Given the description of an element on the screen output the (x, y) to click on. 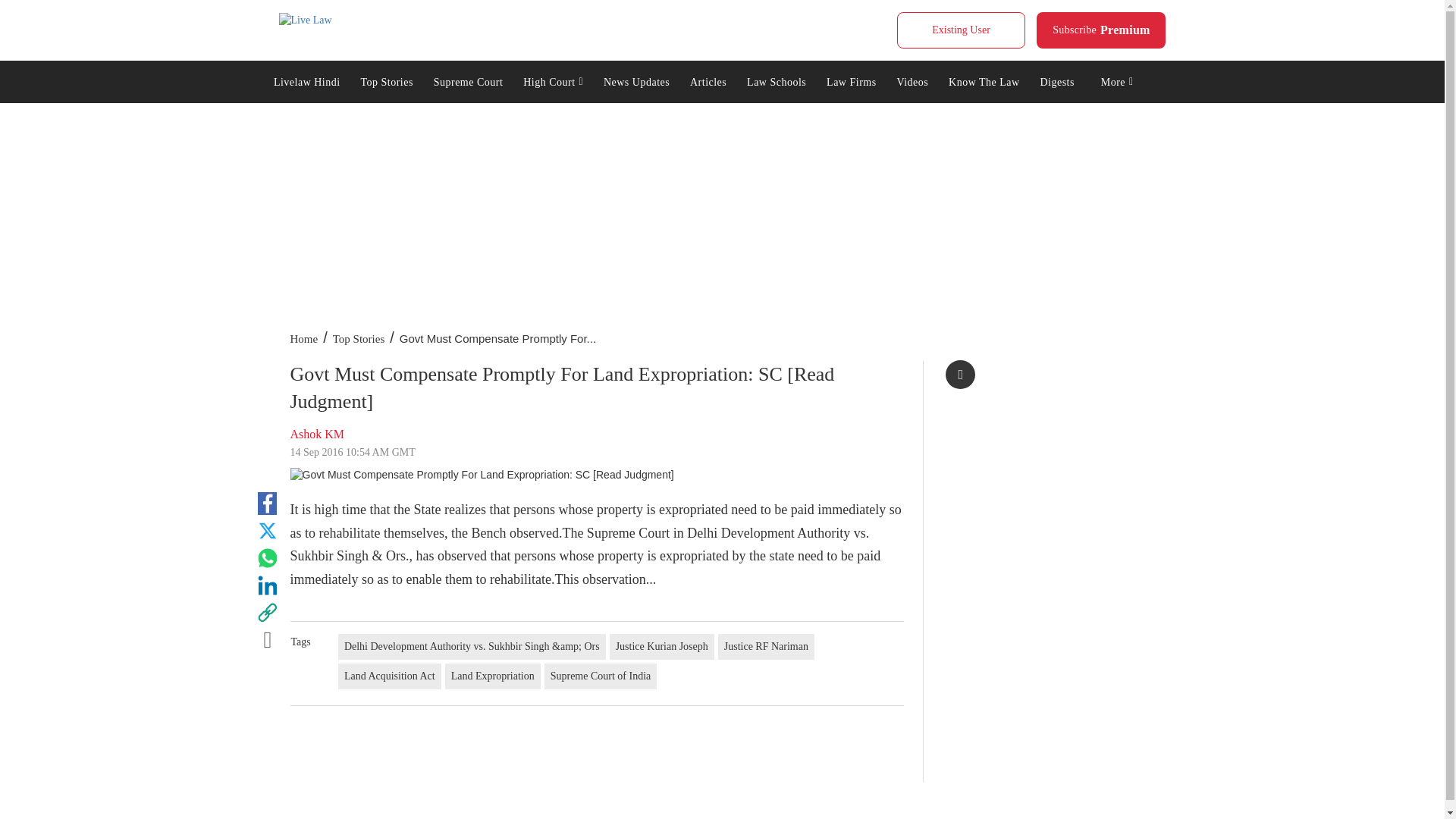
High Court (553, 80)
Livelaw Hindi (1101, 30)
Live Law (306, 80)
Top Stories (305, 20)
Supreme Court (386, 80)
Existing User (467, 80)
